Given the description of an element on the screen output the (x, y) to click on. 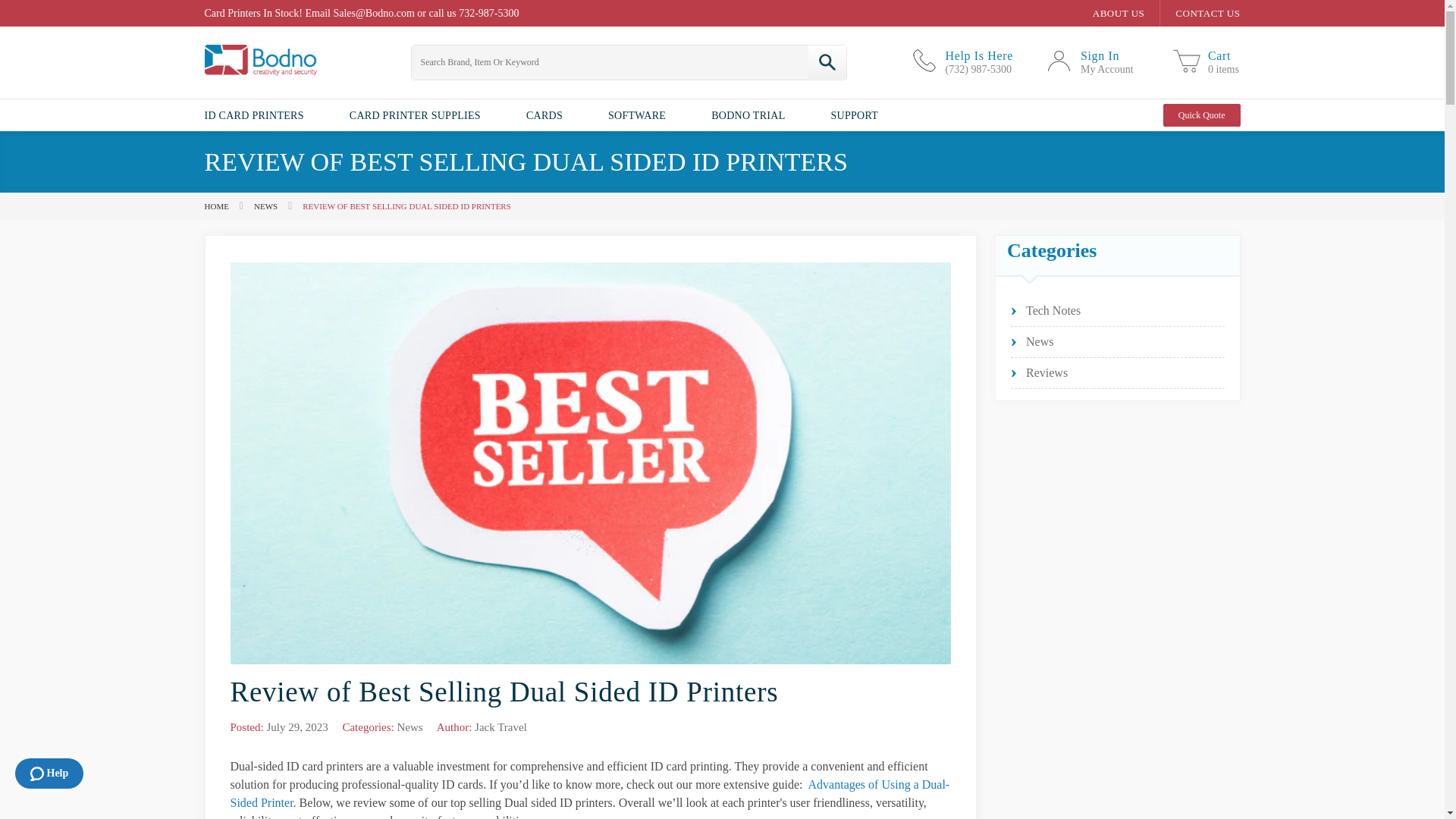
732-987-5300 (488, 12)
Go to Newse (265, 205)
ID CARD PRINTERS (265, 115)
Go to Home Page (1093, 61)
ABOUT US (216, 205)
CONTACT US (1205, 61)
